Given the description of an element on the screen output the (x, y) to click on. 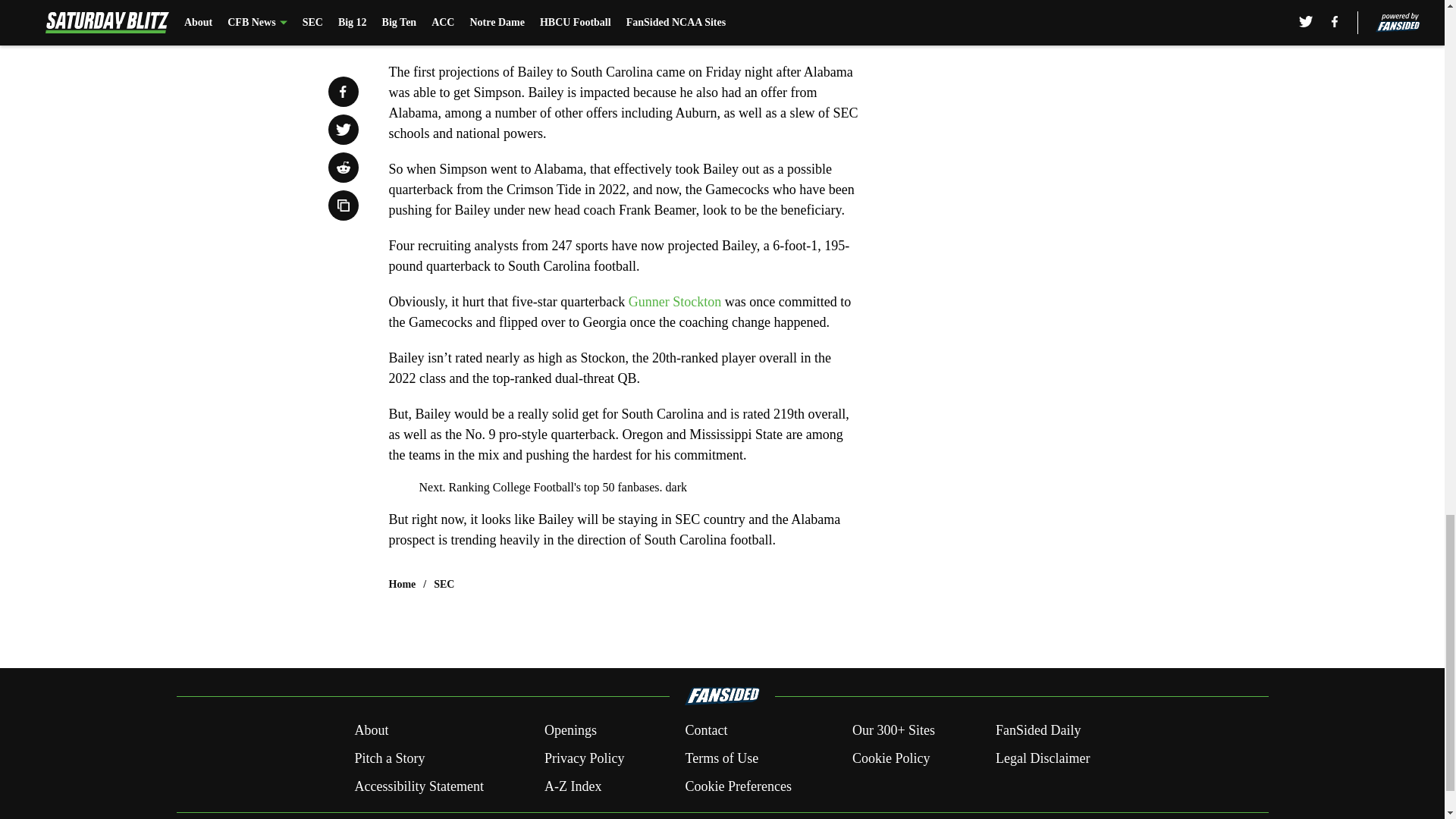
Home (401, 584)
Contact (705, 730)
Privacy Policy (584, 758)
FanSided Daily (1038, 730)
Gunner Stockton (674, 301)
Pitch a Story (389, 758)
SEC (443, 584)
About (370, 730)
Openings (570, 730)
Tanner Bailey (806, 1)
